Given the description of an element on the screen output the (x, y) to click on. 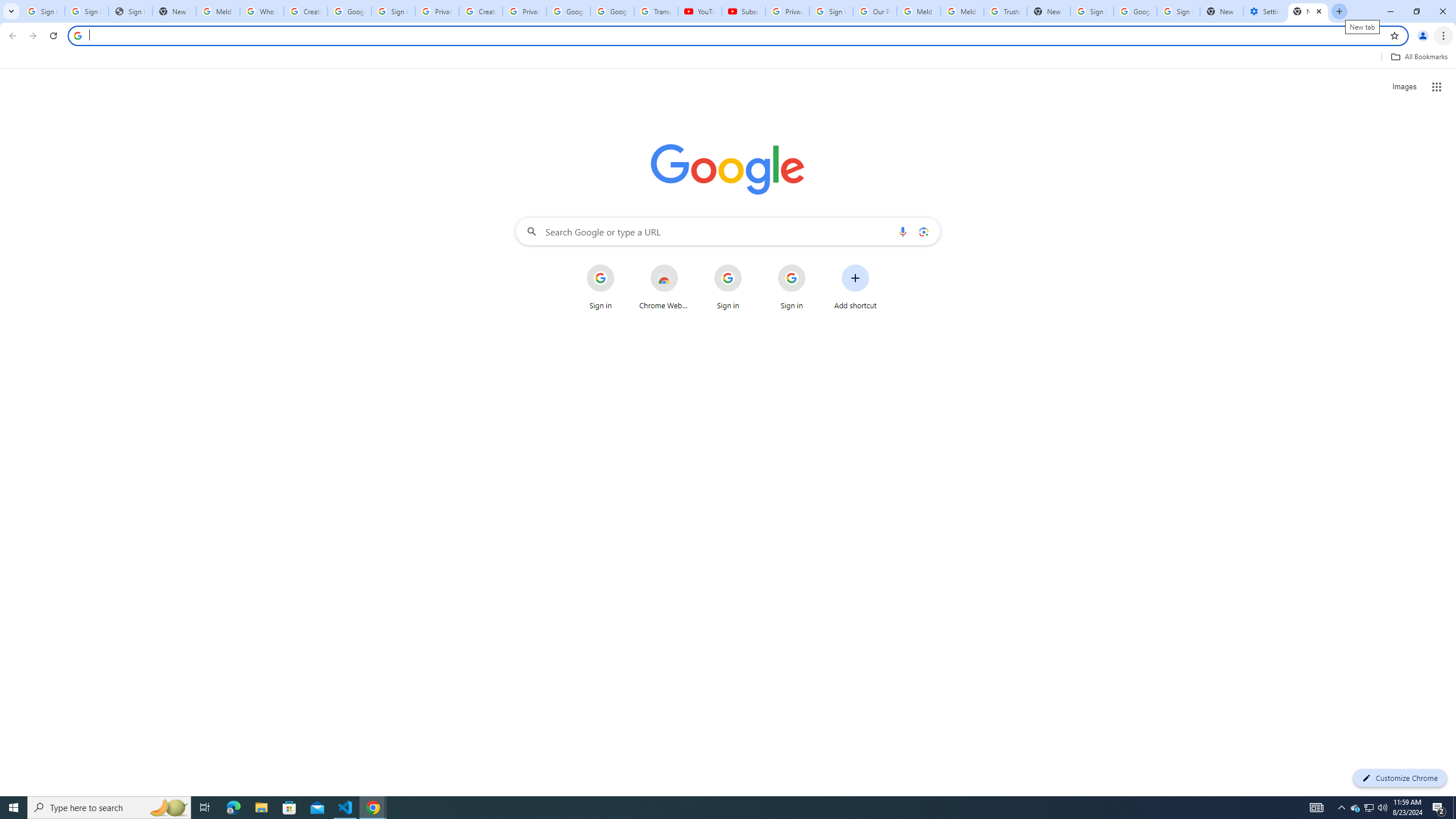
Sign in - Google Accounts (86, 11)
Settings - Addresses and more (1264, 11)
Sign in - Google Accounts (1091, 11)
YouTube (699, 11)
